Given the description of an element on the screen output the (x, y) to click on. 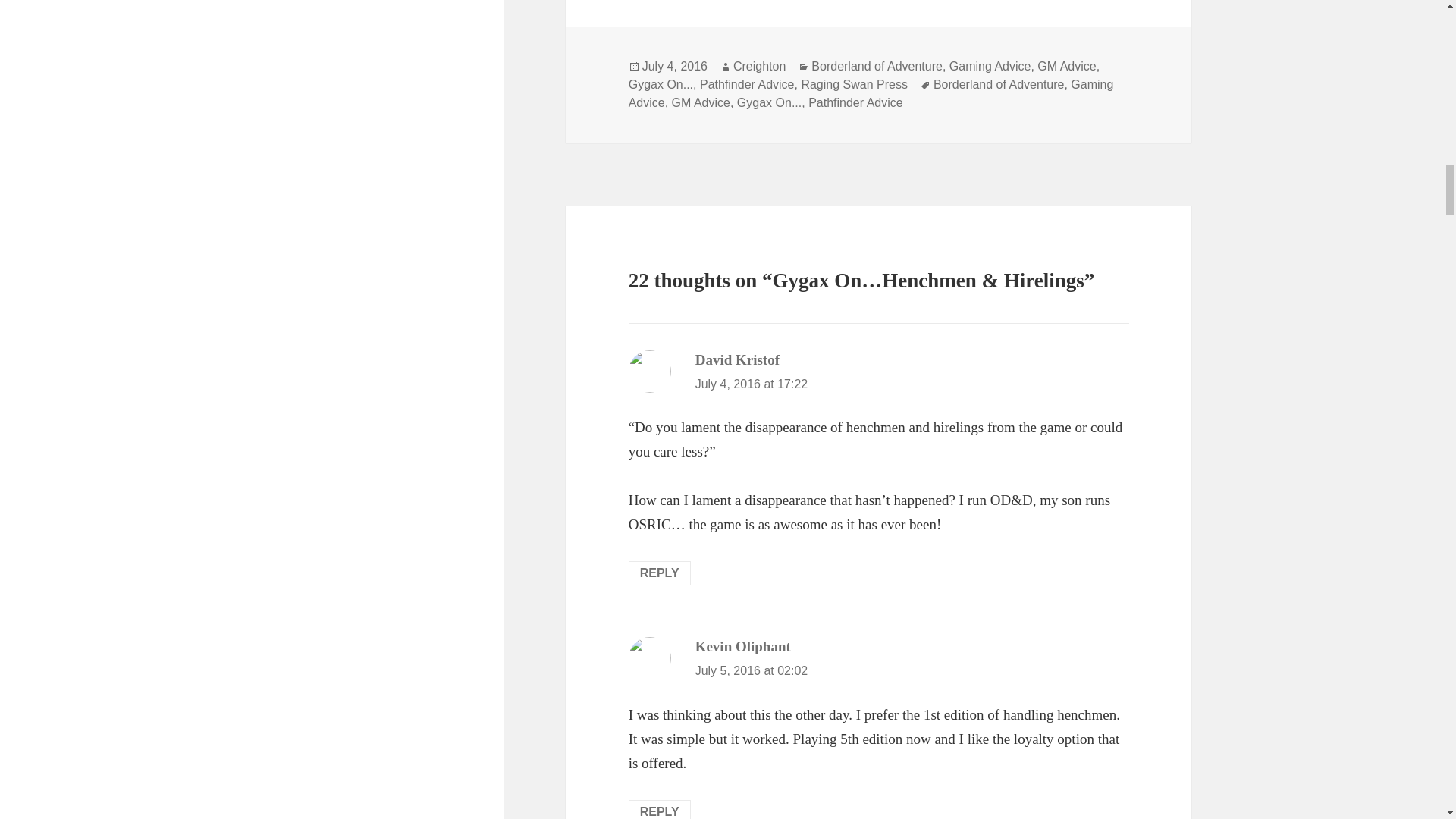
GM Advice (1066, 66)
Gaming Advice (870, 93)
Pathfinder Advice (855, 102)
Raging Swan Press (853, 84)
Gaming Advice (989, 66)
GM Advice (700, 102)
Creighton (759, 66)
Borderland of Adventure (998, 84)
Gygax On... (660, 84)
Pathfinder Advice (747, 84)
